Given the description of an element on the screen output the (x, y) to click on. 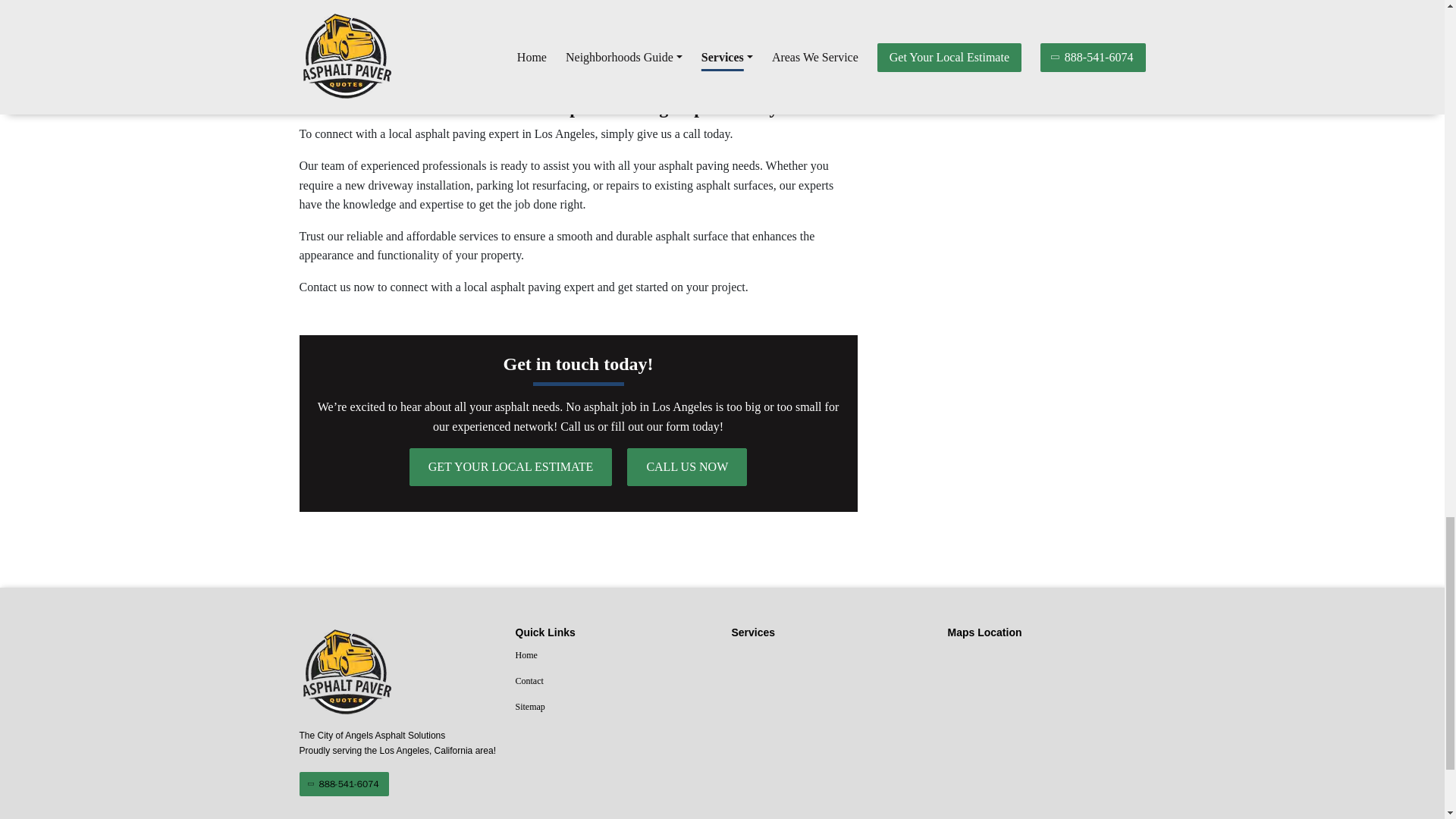
888-541-6074 (343, 784)
CALL US NOW (686, 466)
Contact (614, 681)
Home (614, 655)
Sitemap (614, 707)
GET YOUR LOCAL ESTIMATE (510, 466)
